Given the description of an element on the screen output the (x, y) to click on. 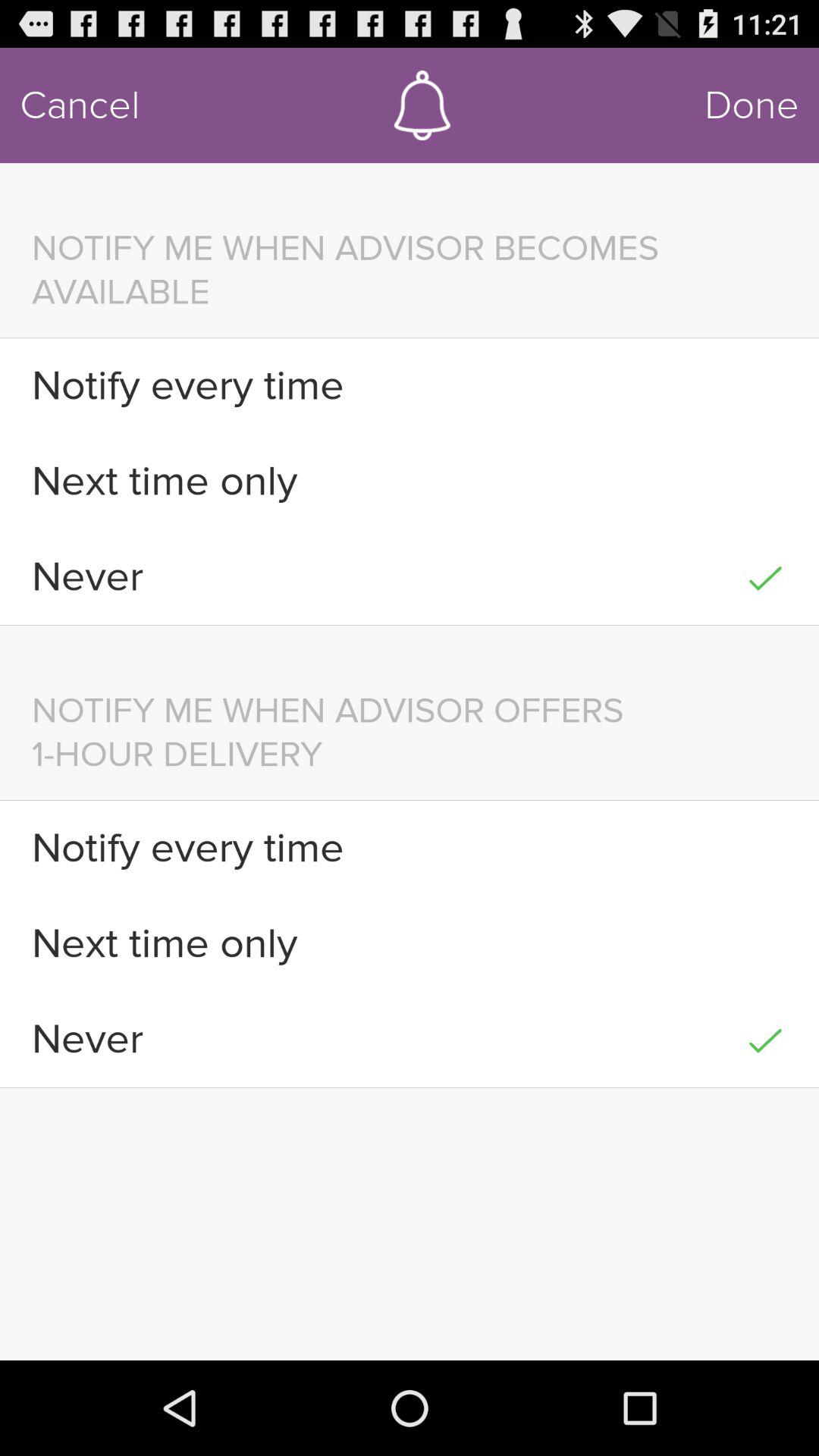
turn on icon next to the notify every time (765, 848)
